Given the description of an element on the screen output the (x, y) to click on. 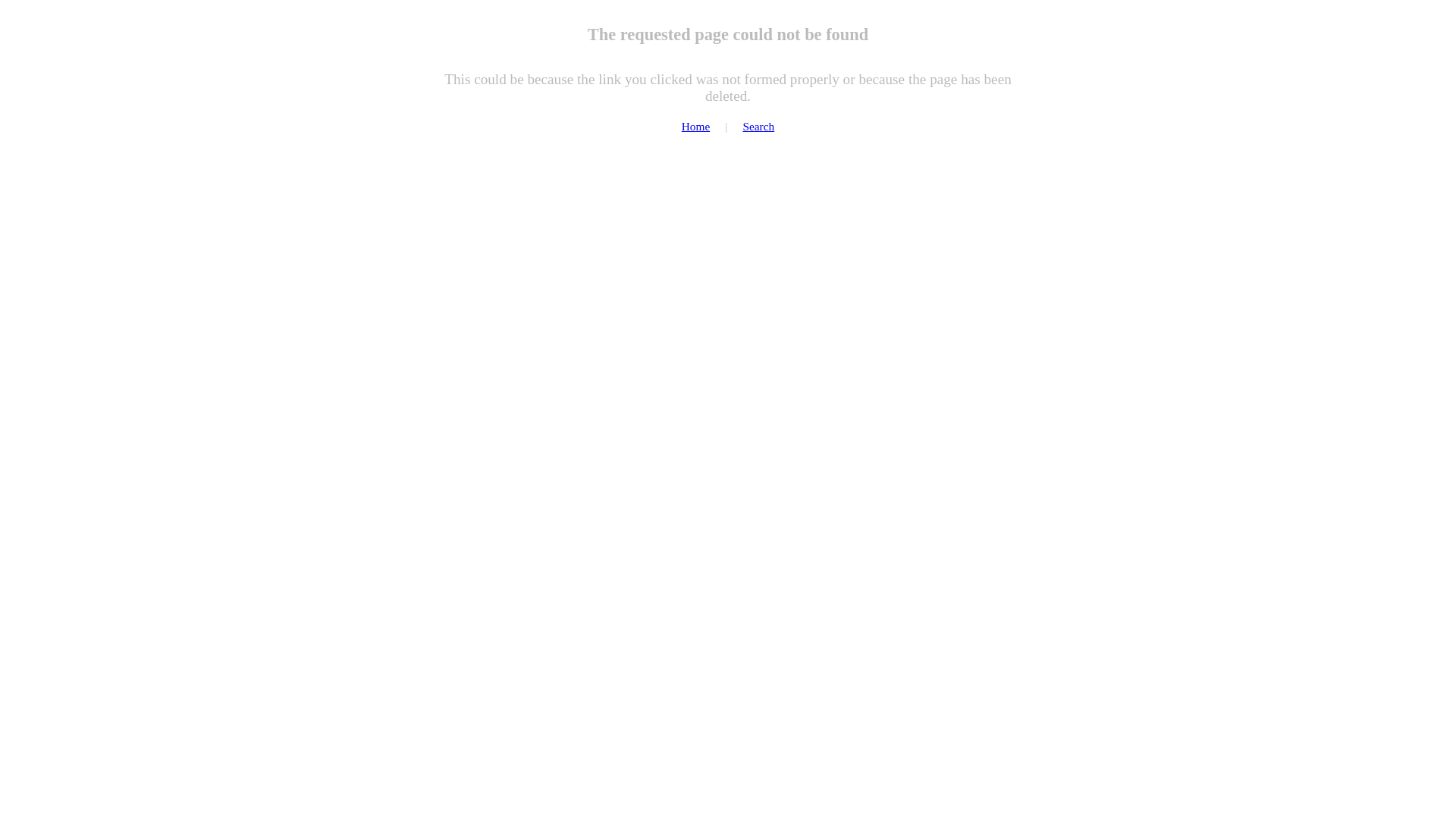
Home Element type: text (695, 125)
Search Element type: text (758, 125)
